Given the description of an element on the screen output the (x, y) to click on. 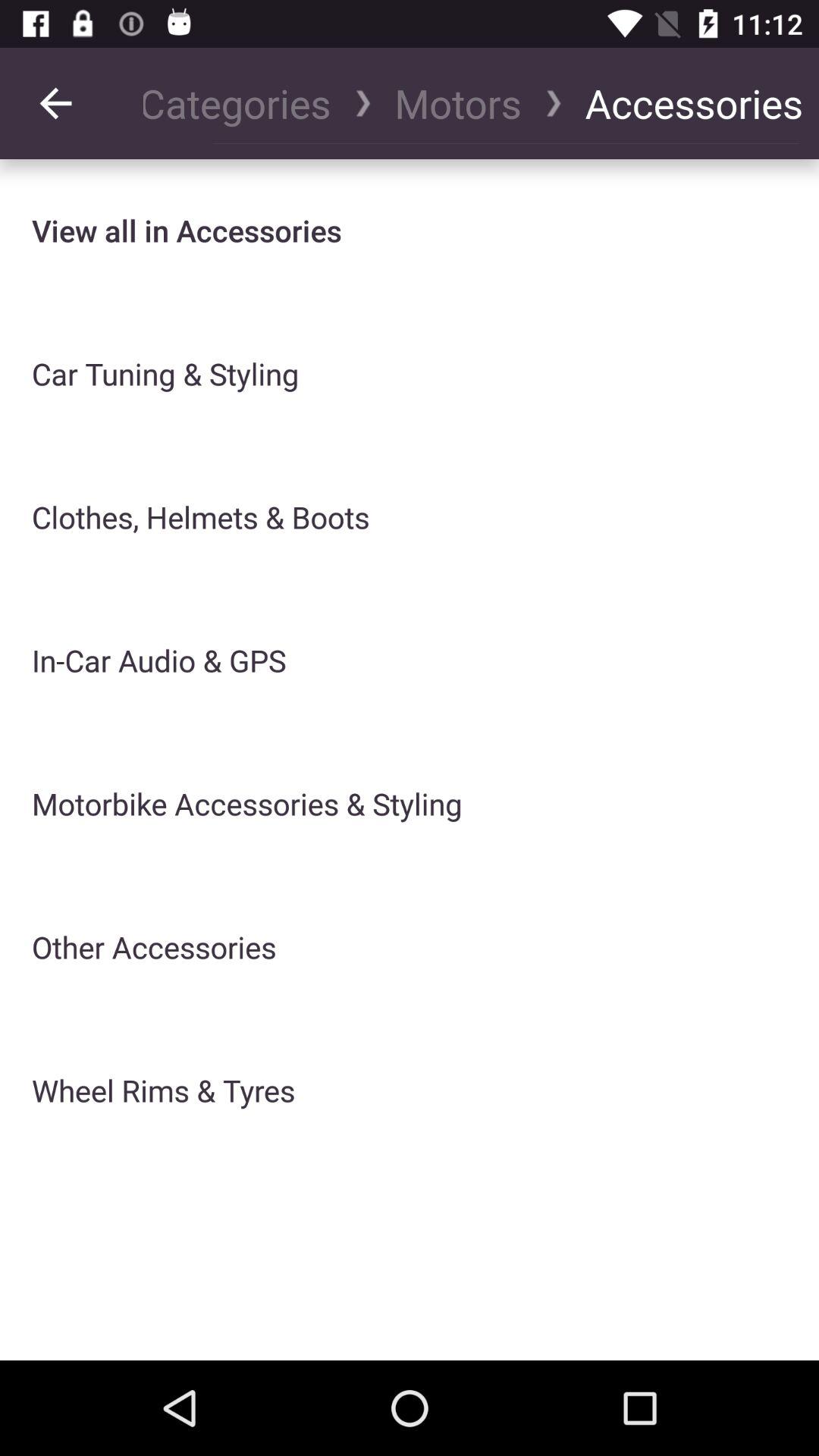
tap the item above the view all in icon (55, 103)
